Given the description of an element on the screen output the (x, y) to click on. 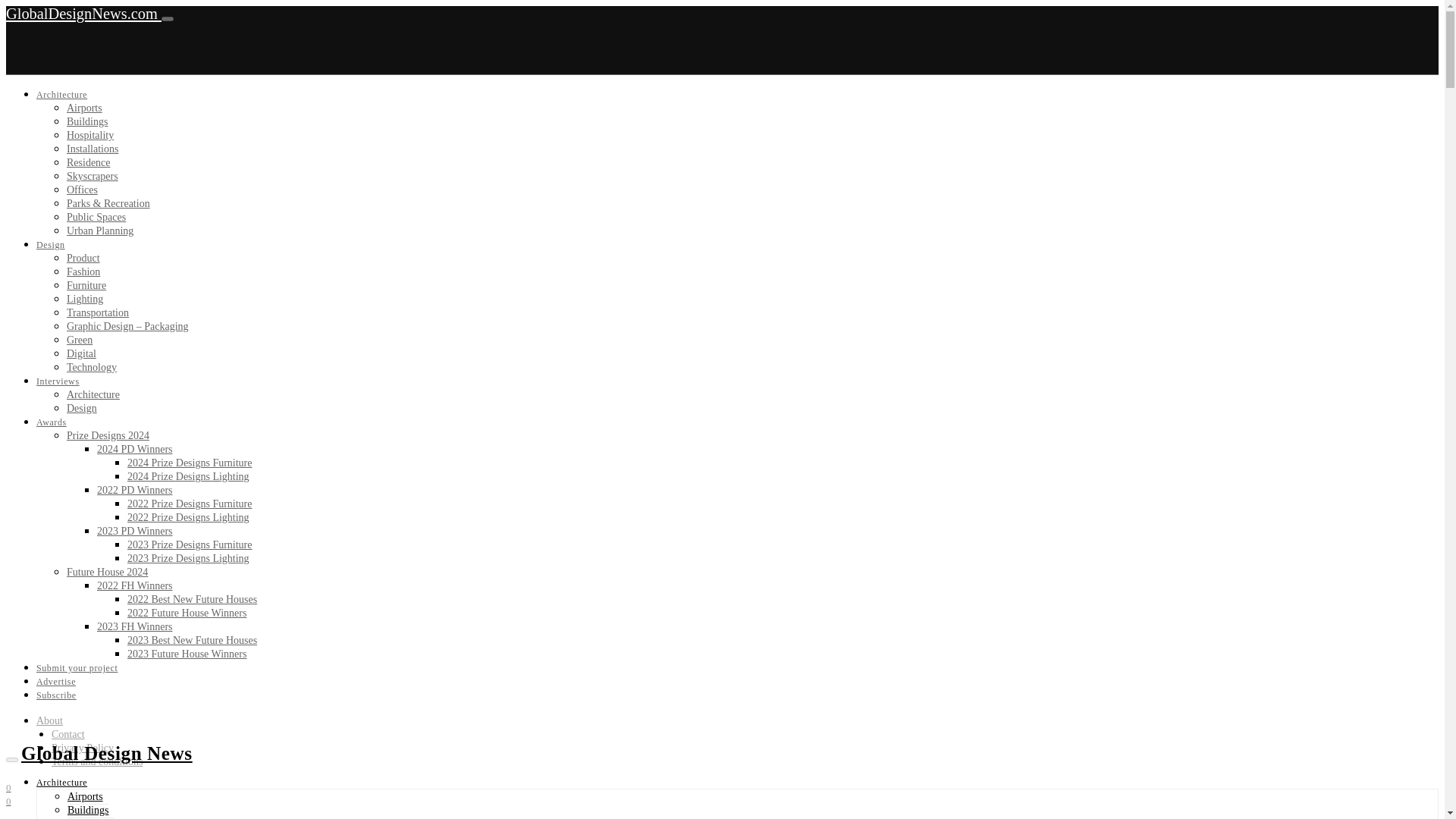
2024 Prize Designs Lighting (188, 476)
2022 Prize Designs Lighting (188, 517)
Architecture (61, 94)
2023 PD Winners (135, 531)
2023 Prize Designs Lighting (188, 558)
Lighting (84, 298)
2022 Best New Future Houses (192, 599)
Digital (81, 353)
Furniture (86, 285)
Design (81, 408)
